Given the description of an element on the screen output the (x, y) to click on. 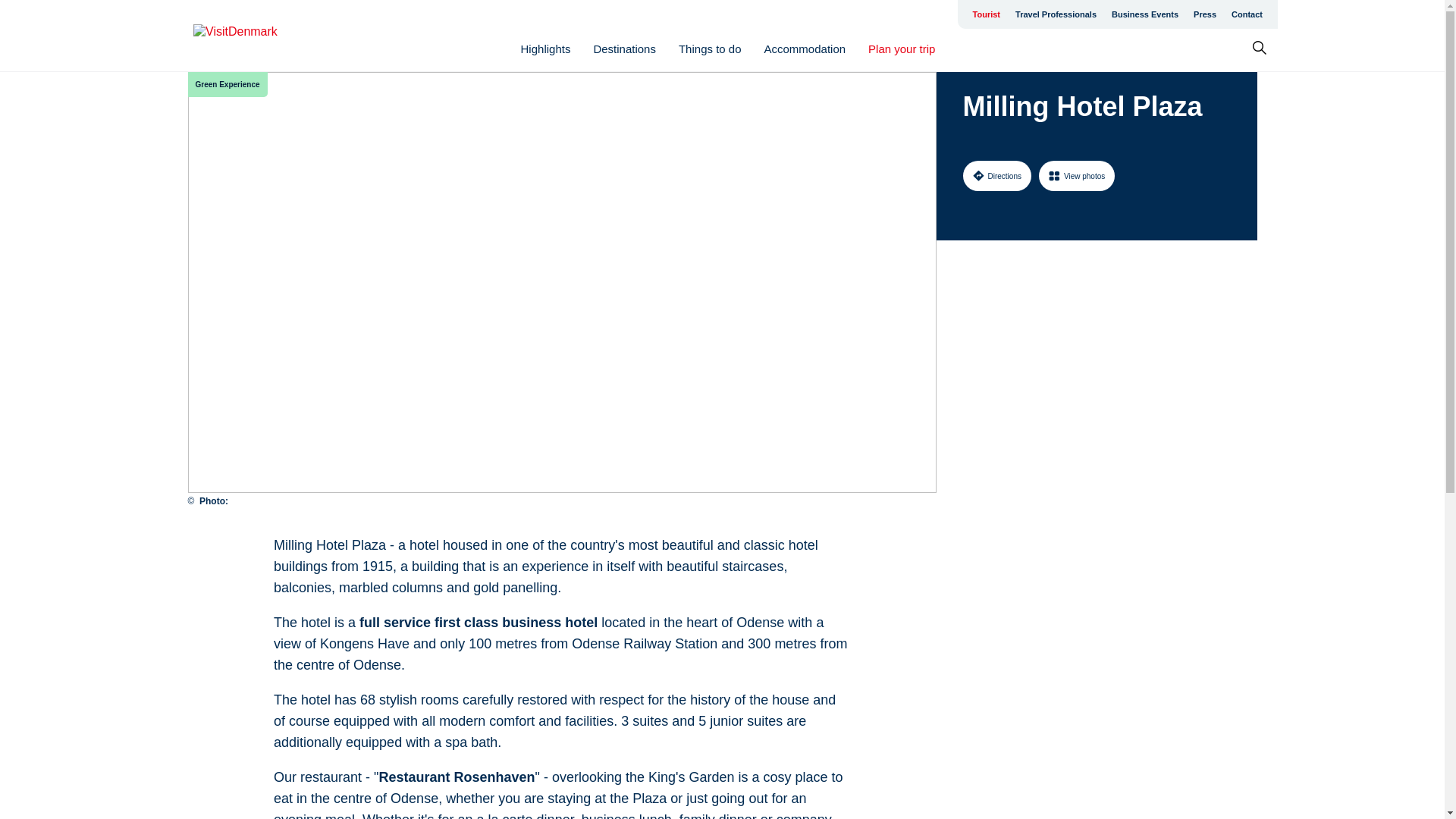
Highlights (545, 48)
Business Events (1144, 14)
View photos (1077, 175)
Go to homepage (253, 35)
Accommodation (804, 48)
Things to do (709, 48)
Contact (1246, 14)
Plan your trip (900, 48)
Travel Professionals (1055, 14)
Directions (996, 175)
Tourist (986, 14)
Press (1205, 14)
Destinations (624, 48)
